Given the description of an element on the screen output the (x, y) to click on. 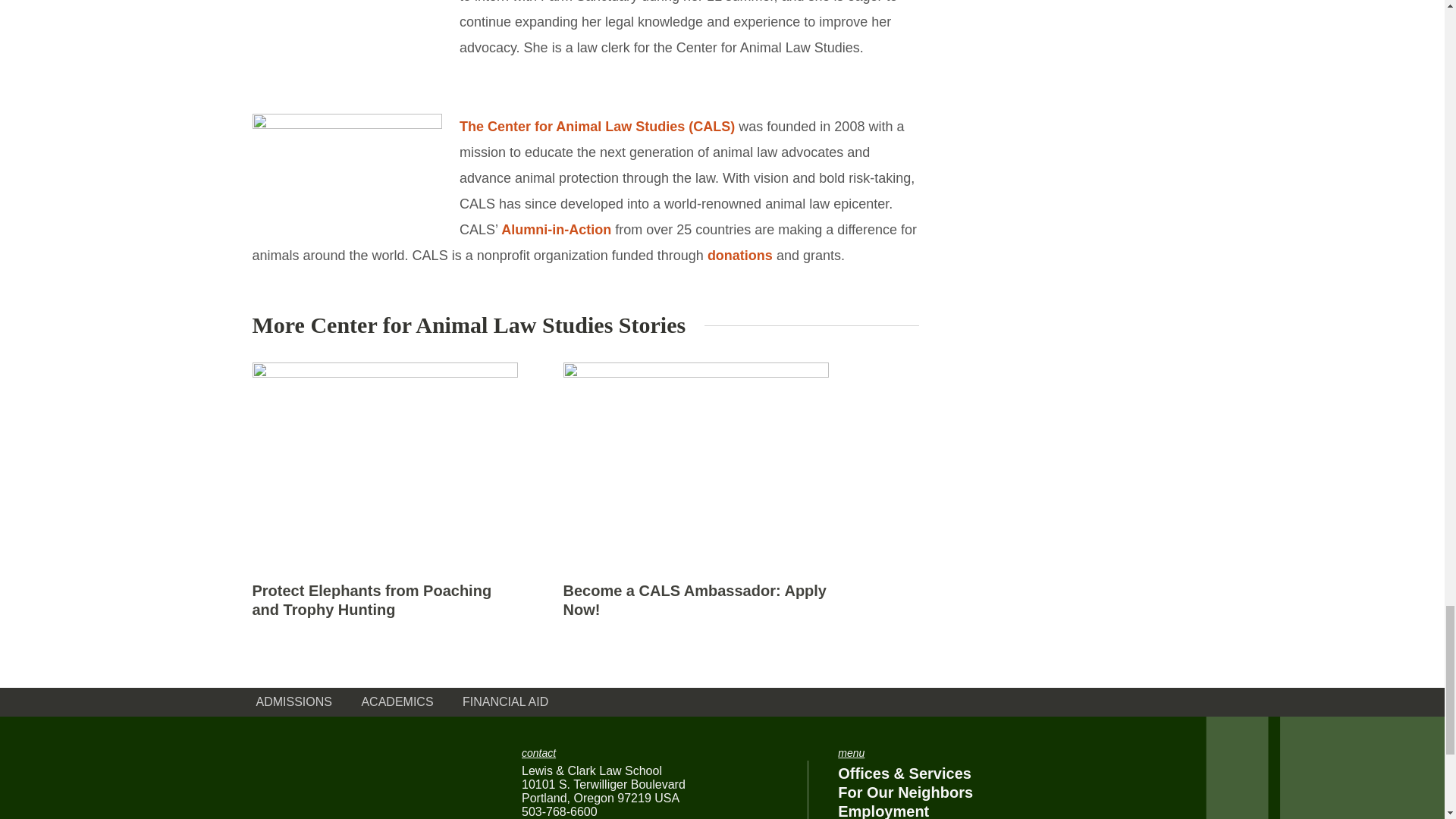
donations (740, 255)
Alumni-in-Action (555, 229)
CALS Logo website (346, 166)
IMG 2579 (346, 47)
Protect Elephants from Poaching and Trophy Hunting (371, 600)
